Given the description of an element on the screen output the (x, y) to click on. 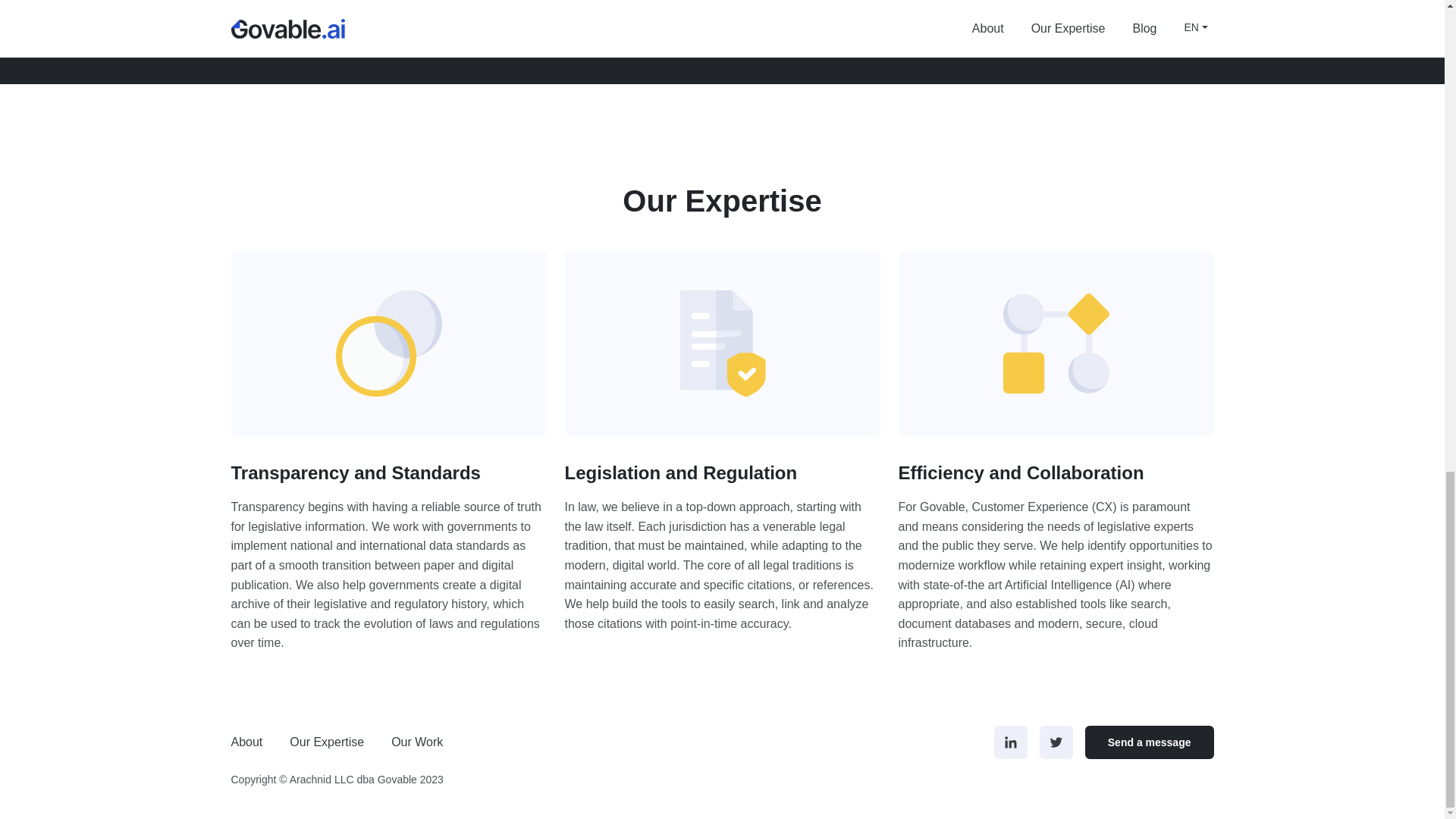
Our Expertise (326, 742)
Our Work (417, 742)
About (253, 742)
Send a message (1149, 742)
